Given the description of an element on the screen output the (x, y) to click on. 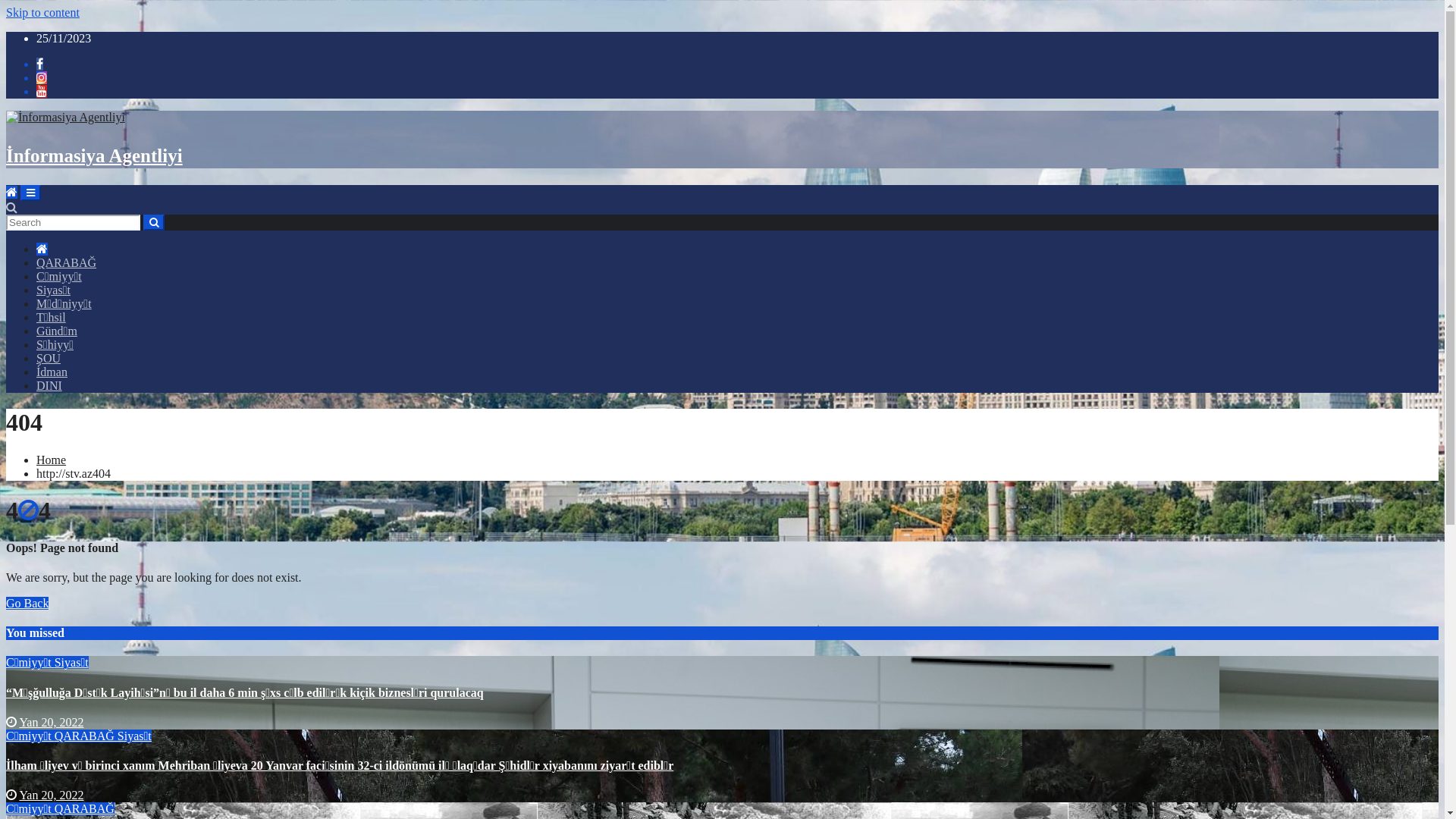
Yan 20, 2022 Element type: text (50, 721)
Yan 20, 2022 Element type: text (50, 794)
Go Back Element type: text (27, 602)
DINI Element type: text (49, 385)
Home Element type: text (50, 459)
Skip to content Element type: text (42, 12)
